Given the description of an element on the screen output the (x, y) to click on. 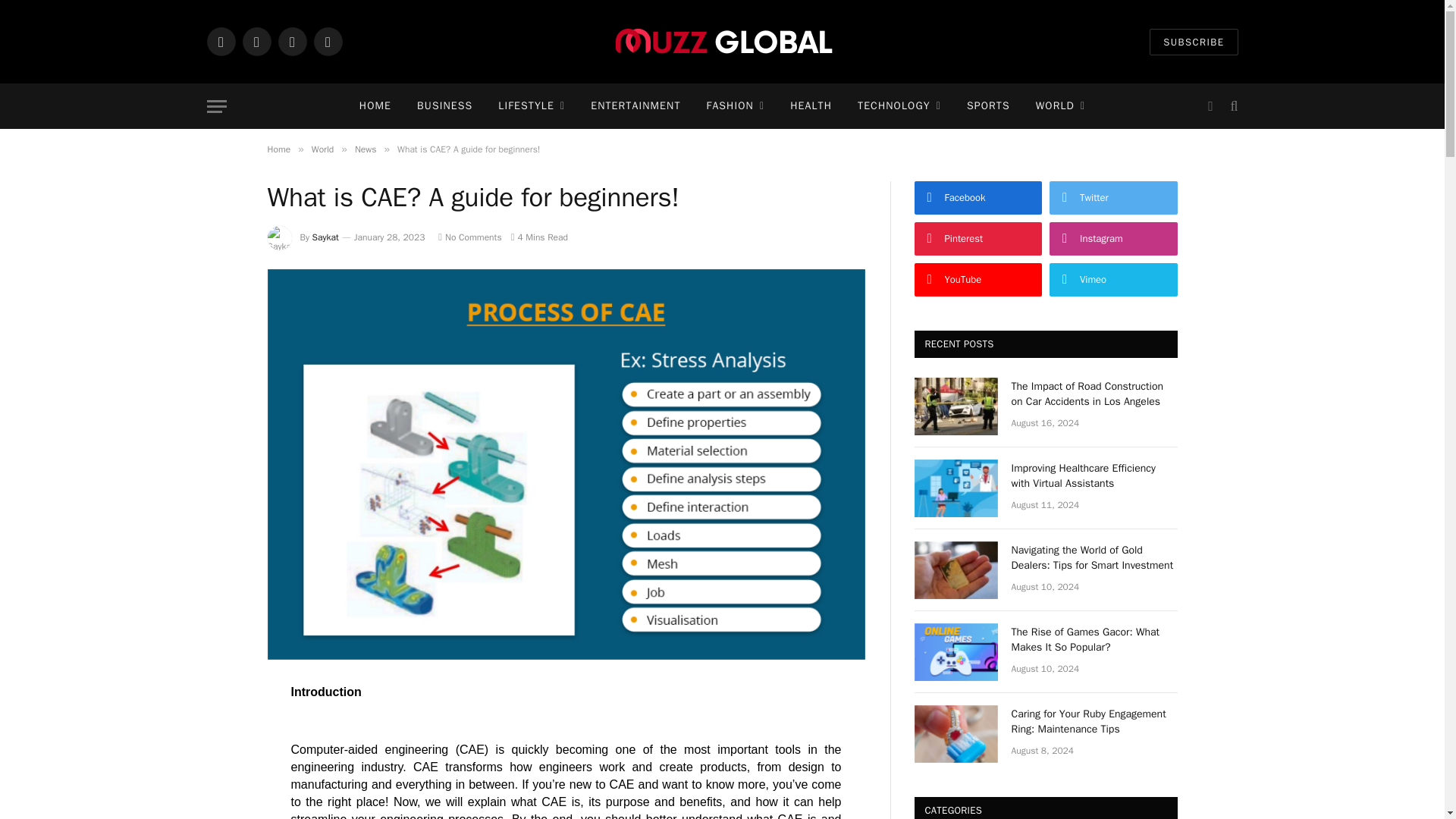
ENTERTAINMENT (635, 105)
Facebook (220, 41)
LIFESTYLE (531, 105)
HEALTH (810, 105)
TECHNOLOGY (898, 105)
FASHION (735, 105)
Muzz Global (721, 41)
SUBSCRIBE (1193, 41)
Vimeo (328, 41)
Switch to Dark Design - easier on eyes. (1209, 106)
